Given the description of an element on the screen output the (x, y) to click on. 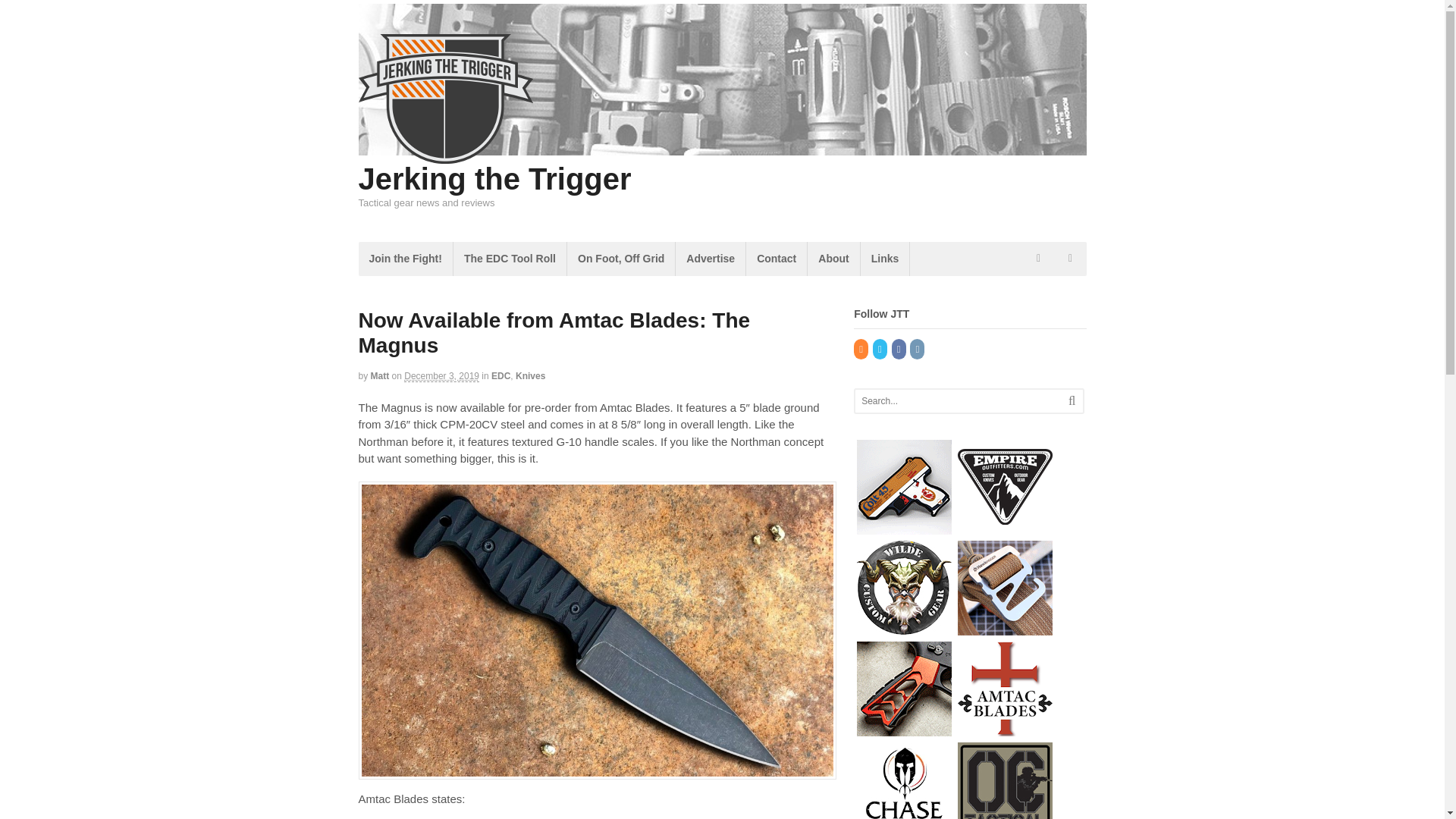
Tactical gear news and reviews (445, 155)
Posts by Matt (380, 376)
On Foot, Off Grid (621, 258)
The EDC Tool Roll (509, 258)
Contact (775, 258)
EDC (501, 376)
Jerking the Trigger (494, 178)
Matt (380, 376)
Advertise (710, 258)
2019-12-03T12:10:04-0800 (441, 376)
